Given the description of an element on the screen output the (x, y) to click on. 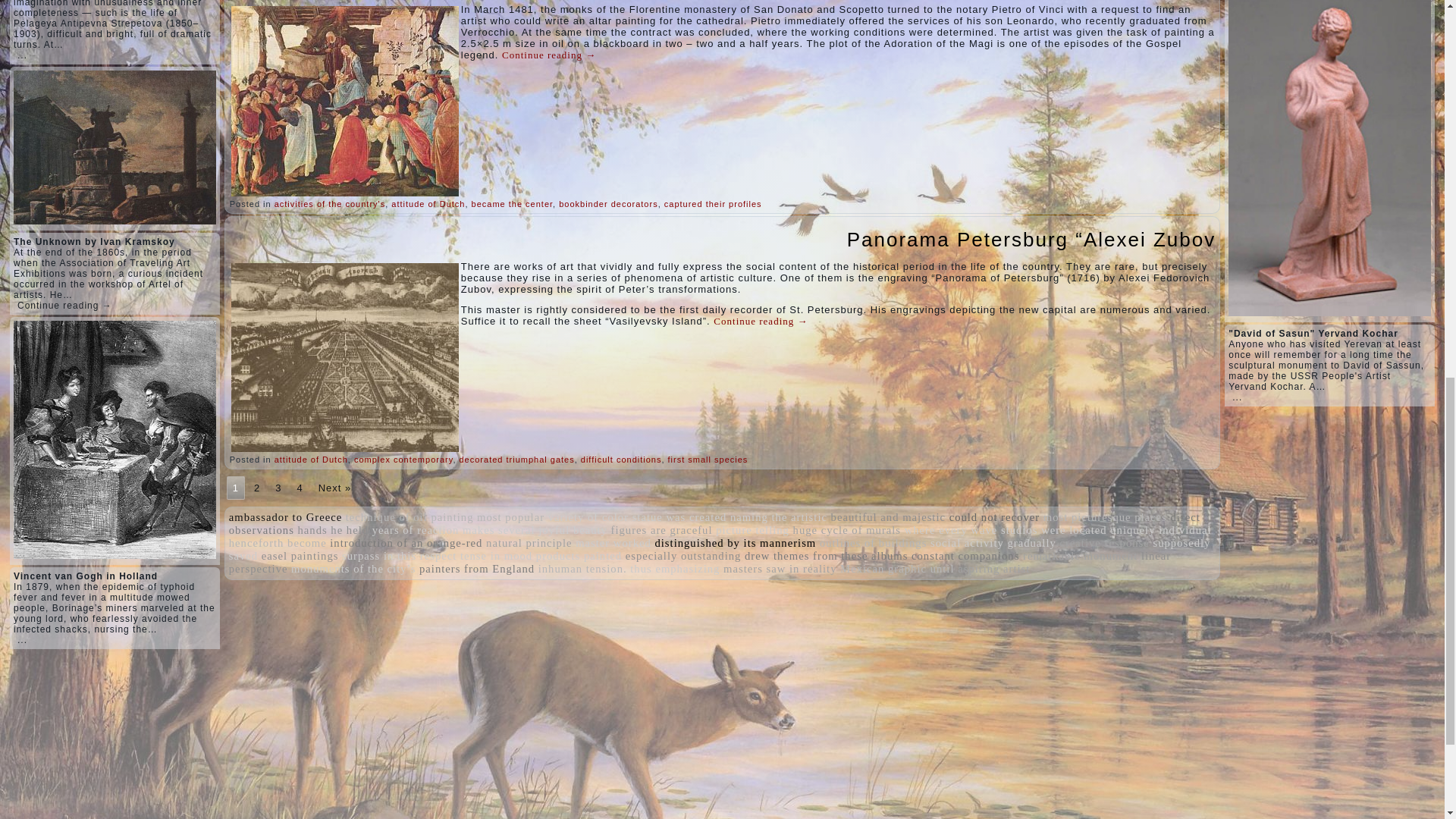
3 topics (410, 517)
17 topics (285, 517)
... (22, 639)
became the center (512, 203)
activities of the country's (330, 203)
3 topics (510, 517)
attitude of Dutch (427, 203)
bookbinder decorators (608, 203)
... (22, 54)
